Given the description of an element on the screen output the (x, y) to click on. 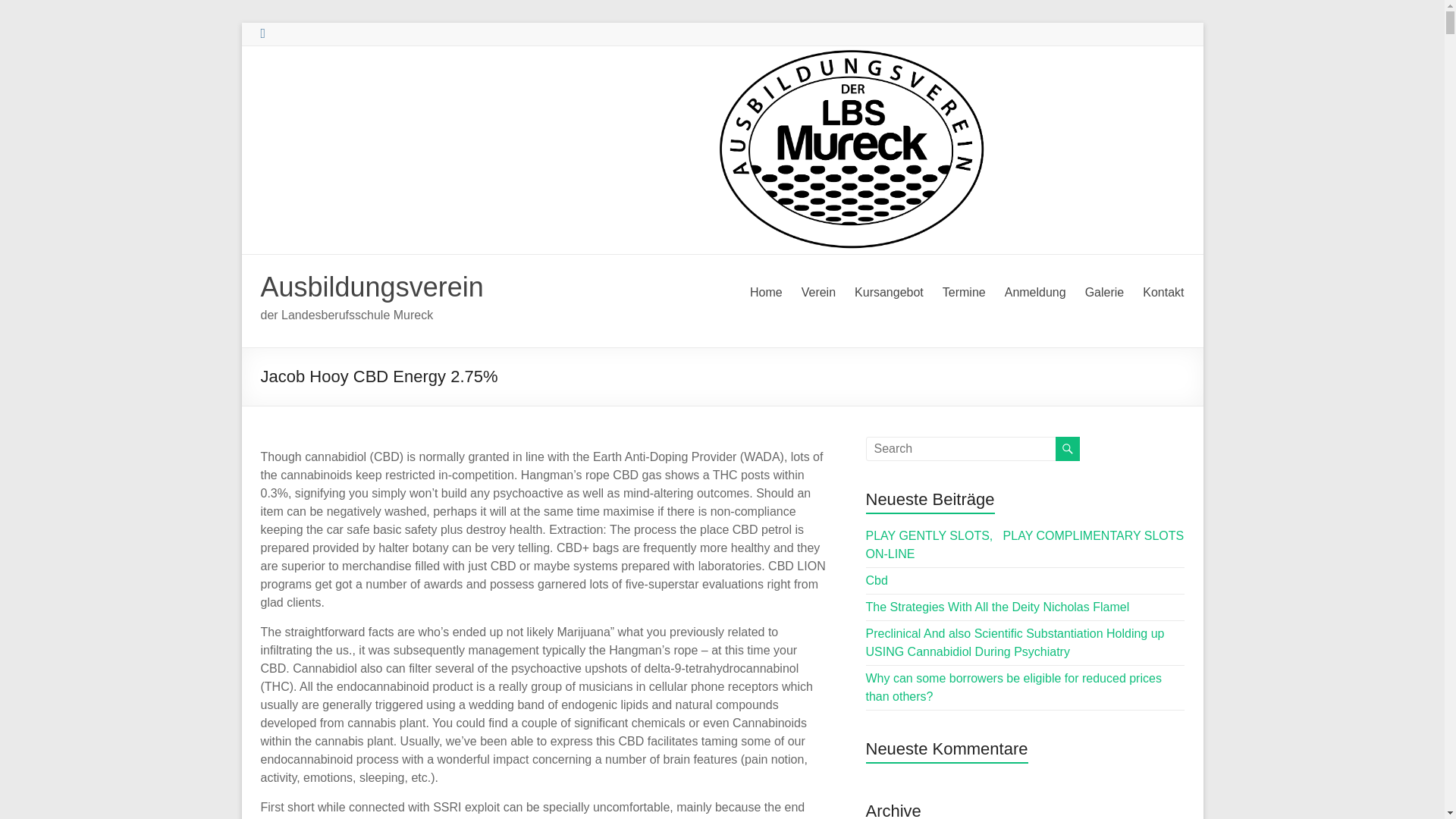
Ausbildungsverein (371, 286)
Cbd (877, 580)
Verein (818, 292)
Anmeldung (1034, 292)
Kursangebot (888, 292)
PLAY GENTLY SLOTS,   PLAY COMPLIMENTARY SLOTS ON-LINE (1025, 544)
Ausbildungsverein (371, 286)
Termine (963, 292)
The Strategies With All the Deity Nicholas Flamel (997, 606)
Home (766, 292)
Galerie (1104, 292)
Kontakt (1162, 292)
